Given the description of an element on the screen output the (x, y) to click on. 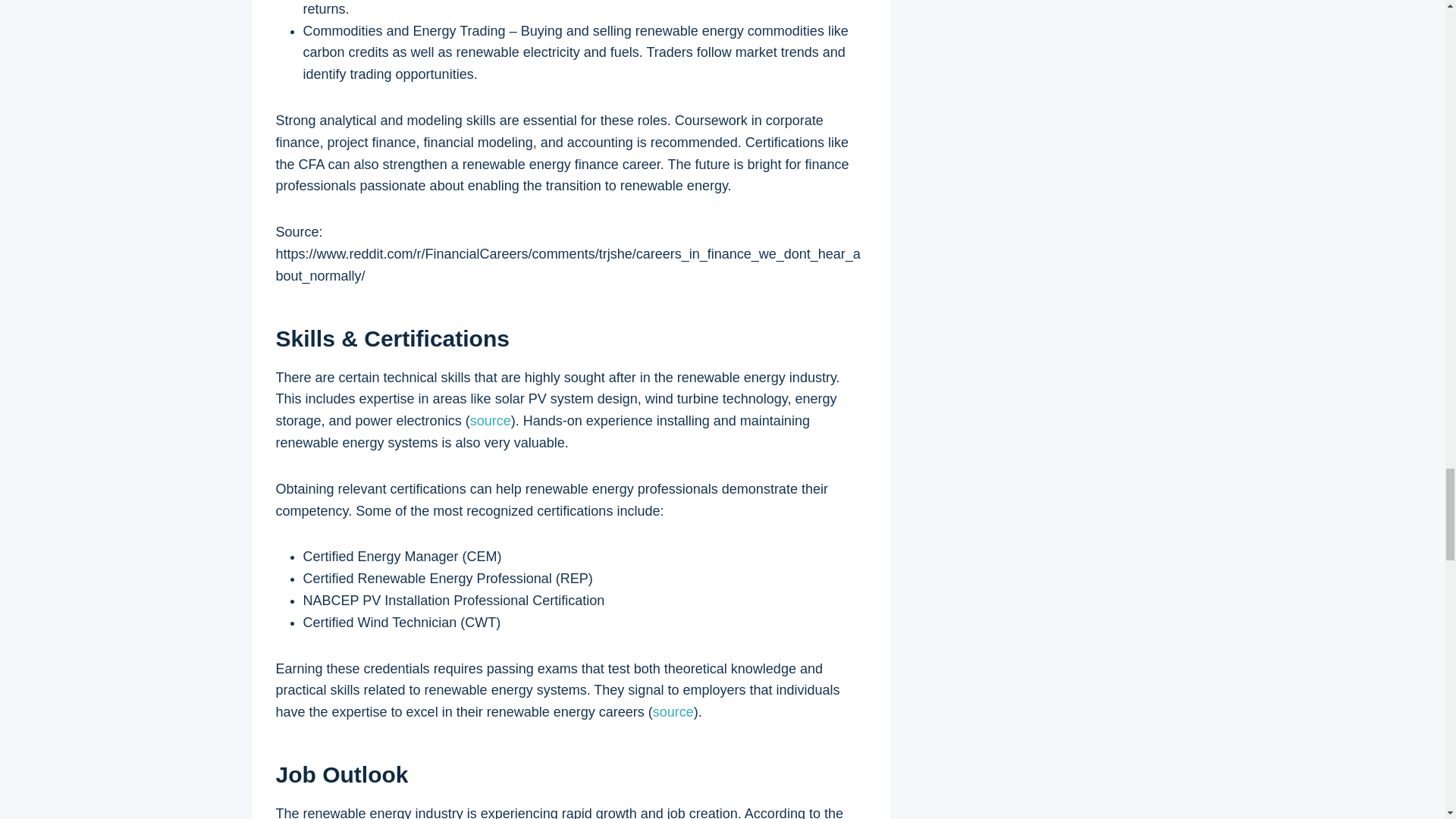
source (490, 420)
source (673, 711)
